Given the description of an element on the screen output the (x, y) to click on. 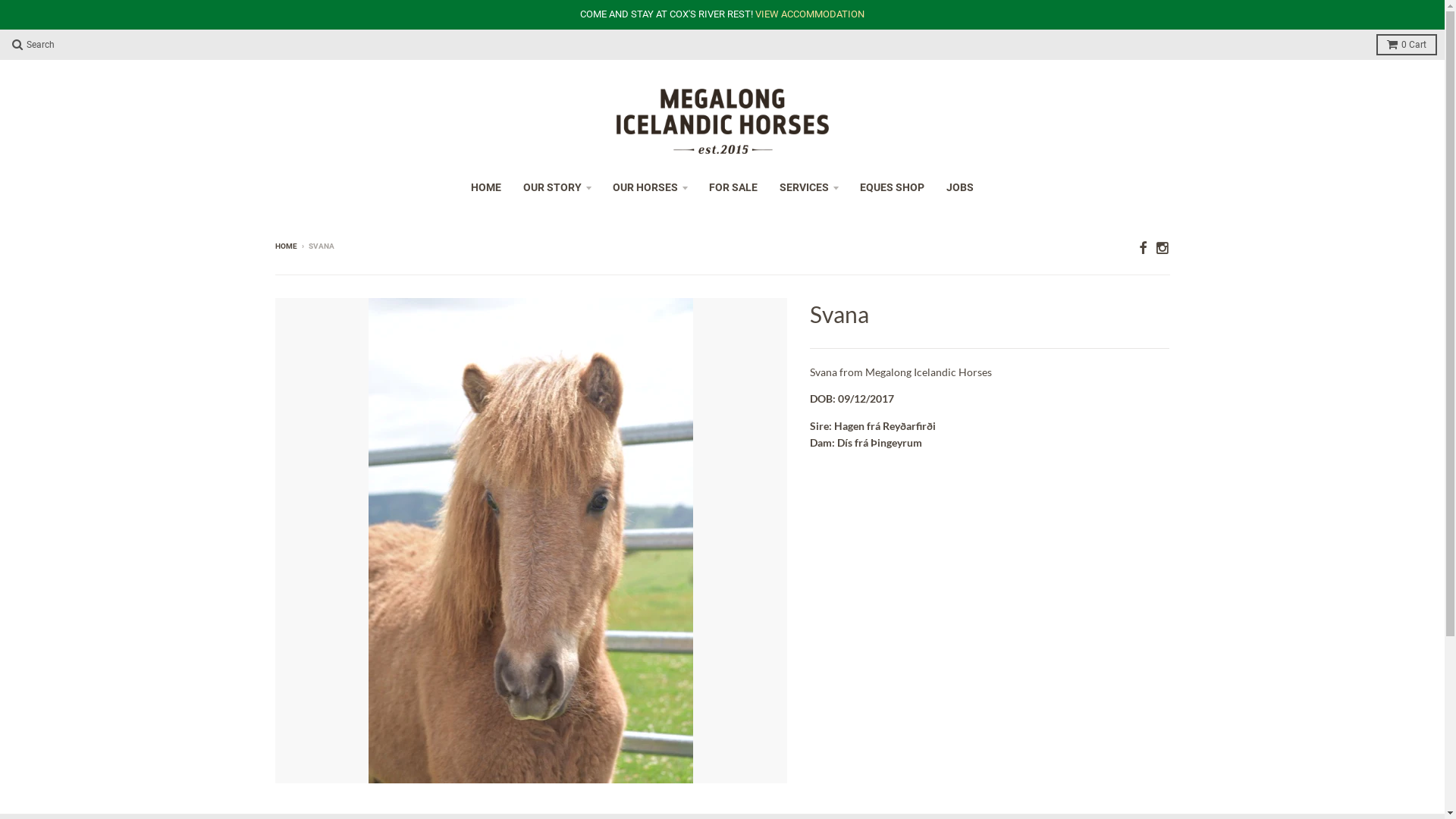
HOME Element type: text (285, 245)
VIEW ACCOMMODATION Element type: text (809, 13)
OUR STORY Element type: text (556, 186)
Megalong Icelandic Horses on Instagram Element type: hover (1162, 247)
OUR HORSES Element type: text (649, 186)
Megalong Icelandic Horses on Facebook Element type: hover (1142, 247)
FOR SALE Element type: text (733, 186)
JOBS Element type: text (959, 186)
EQUES SHOP Element type: text (892, 186)
0 Cart Element type: text (1406, 44)
Search Element type: text (33, 44)
HOME Element type: text (486, 186)
SERVICES Element type: text (808, 186)
